Given the description of an element on the screen output the (x, y) to click on. 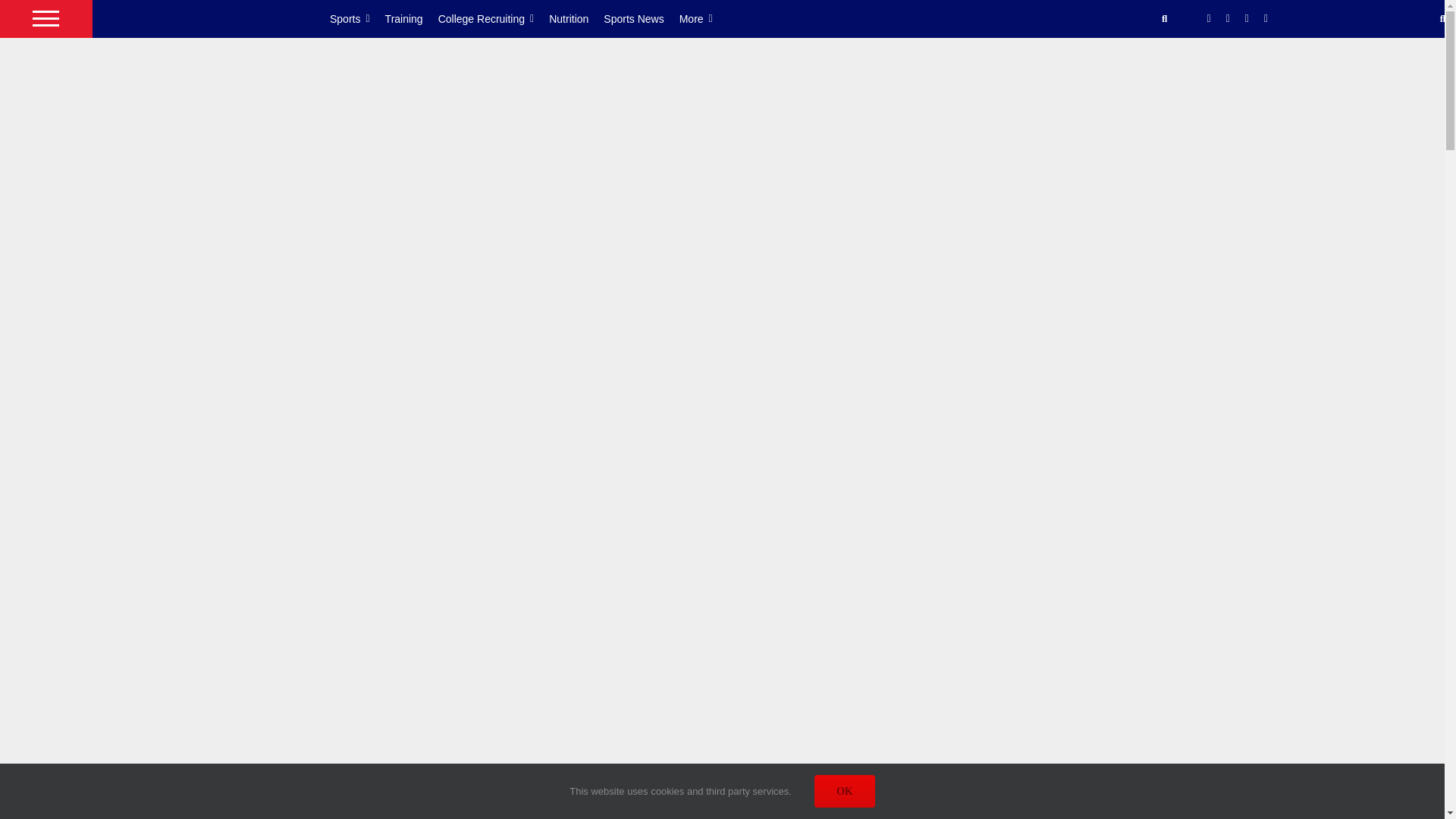
More (703, 18)
Nutrition (576, 18)
Sports (357, 18)
Training (411, 18)
Sports News (641, 18)
College Recruiting (494, 18)
